Given the description of an element on the screen output the (x, y) to click on. 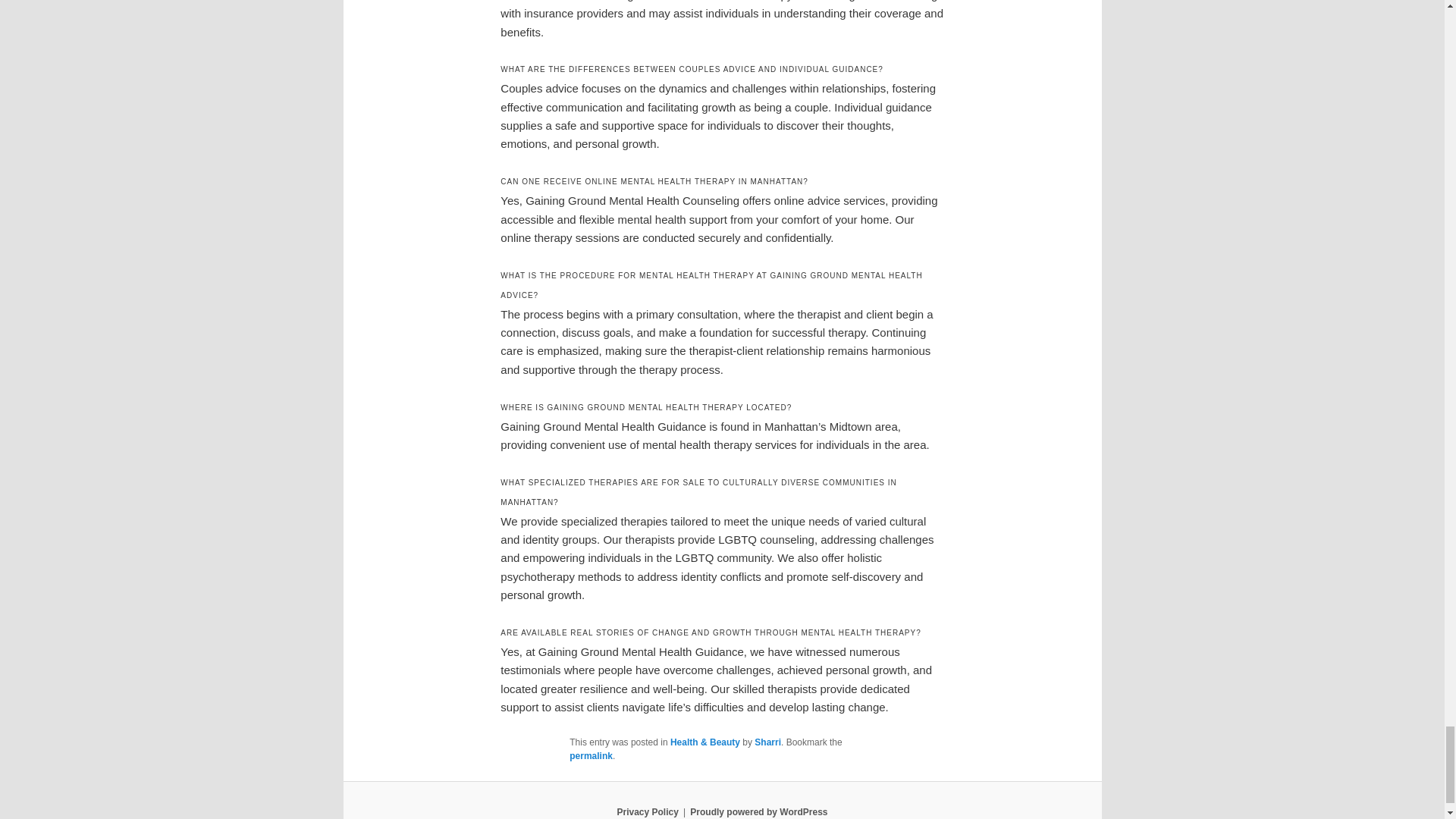
Proudly powered by WordPress (758, 811)
Semantic Personal Publishing Platform (758, 811)
Sharri (767, 742)
Privacy Policy (646, 811)
permalink (590, 756)
